Given the description of an element on the screen output the (x, y) to click on. 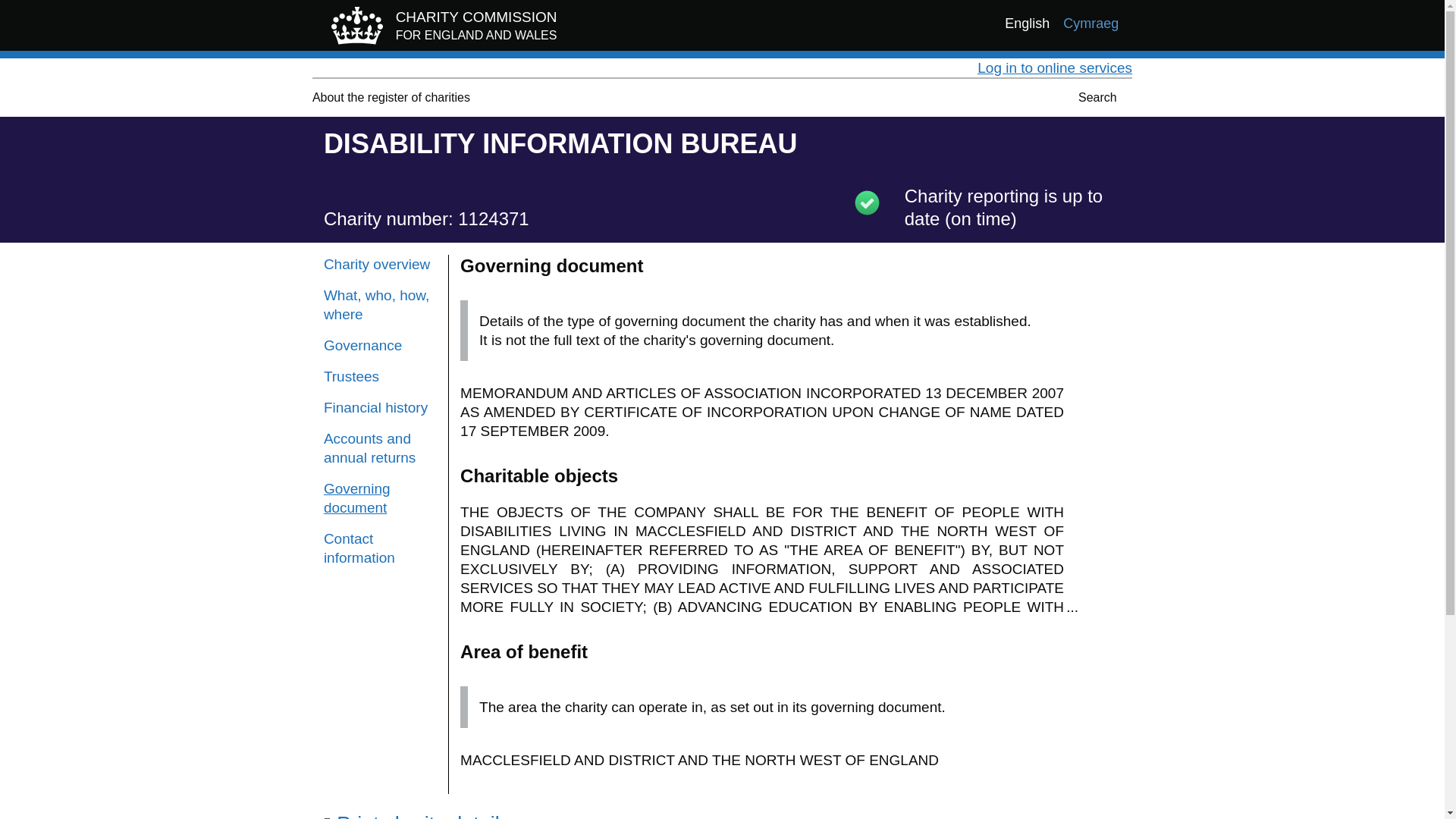
About the register of charities (391, 97)
Log in to online services (1054, 67)
Cymraeg (1091, 23)
Trustees (379, 375)
Financial history (379, 407)
Accounts and annual returns (439, 28)
Contact information (379, 447)
What, who, how, where (379, 548)
Charity overview (379, 304)
Governance (379, 263)
About the register of charities (379, 344)
Governing document (391, 97)
Print charity details (356, 497)
